Given the description of an element on the screen output the (x, y) to click on. 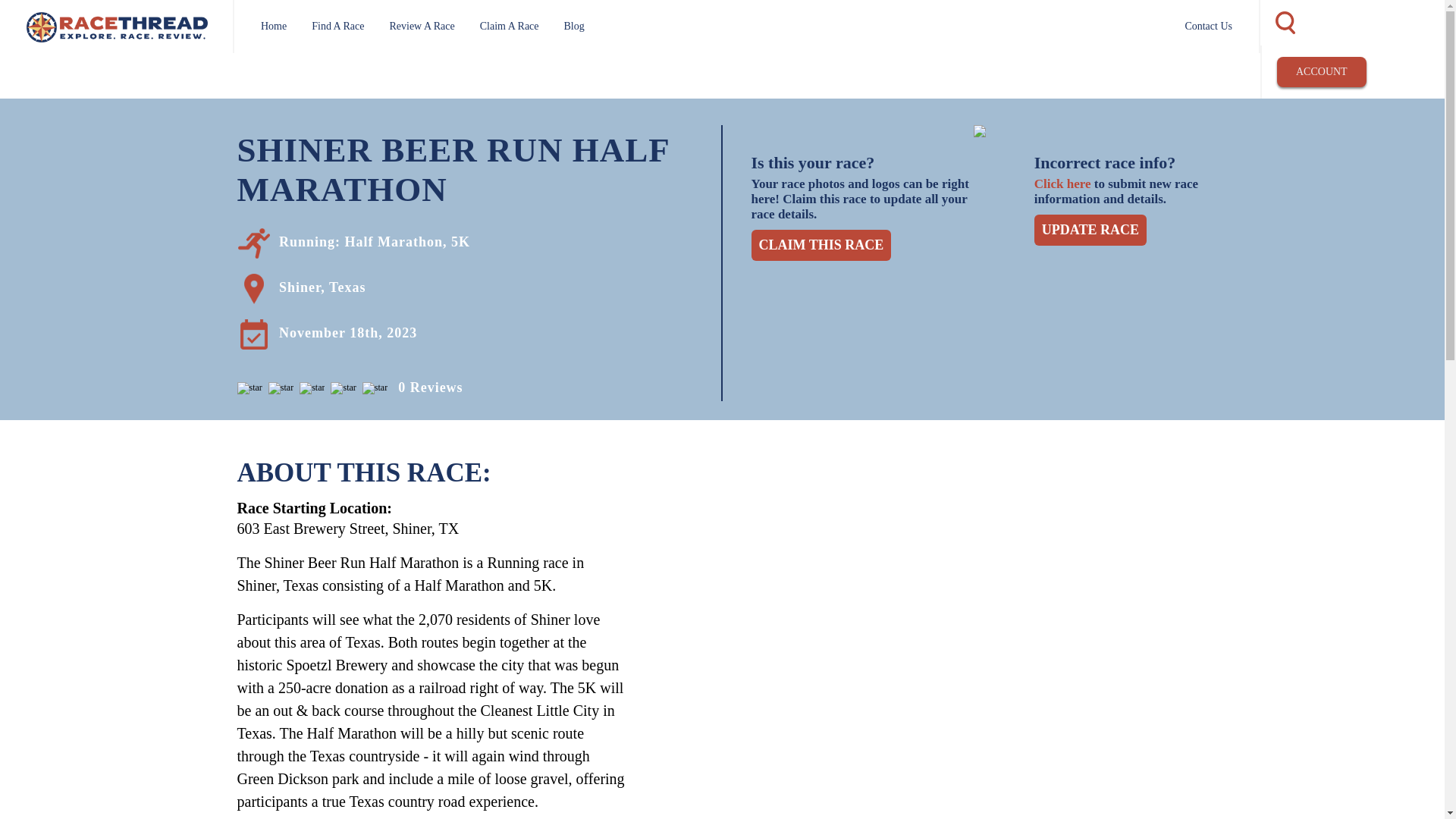
Find A Race (337, 25)
Contact Us (1208, 25)
Click here (1061, 183)
Blog (574, 25)
CLAIM THIS RACE (821, 245)
Claim A Race (509, 25)
ACCOUNT (1321, 71)
Review A Race (421, 25)
Home (273, 25)
UPDATE RACE (1090, 229)
